Given the description of an element on the screen output the (x, y) to click on. 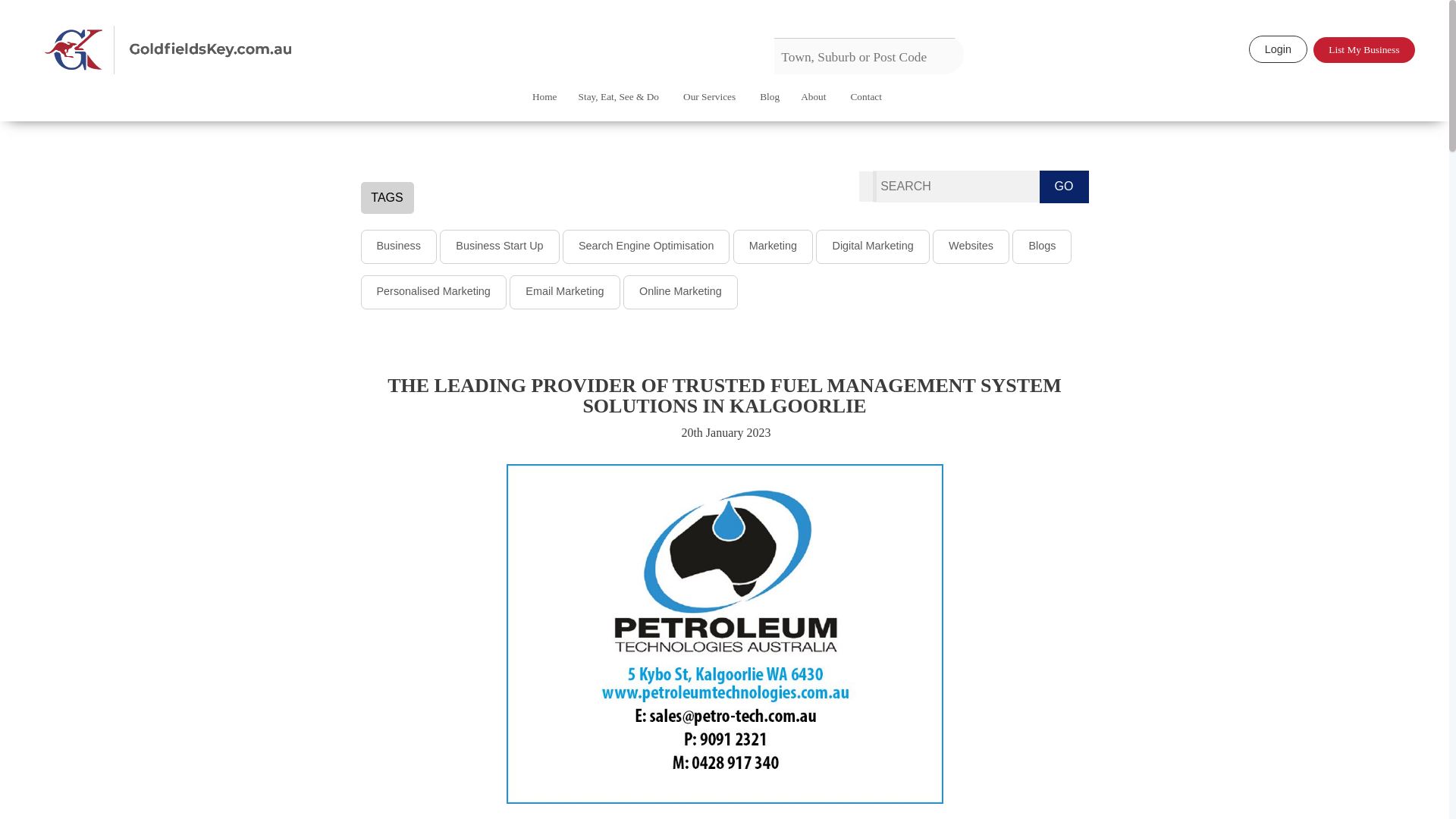
Login (1278, 49)
List My Business (1363, 49)
Home (544, 107)
Add your business. It's FREE! (1363, 49)
Live Local, Enjoy Local, Buy Local (220, 49)
Login (1278, 49)
Home (544, 107)
